Given the description of an element on the screen output the (x, y) to click on. 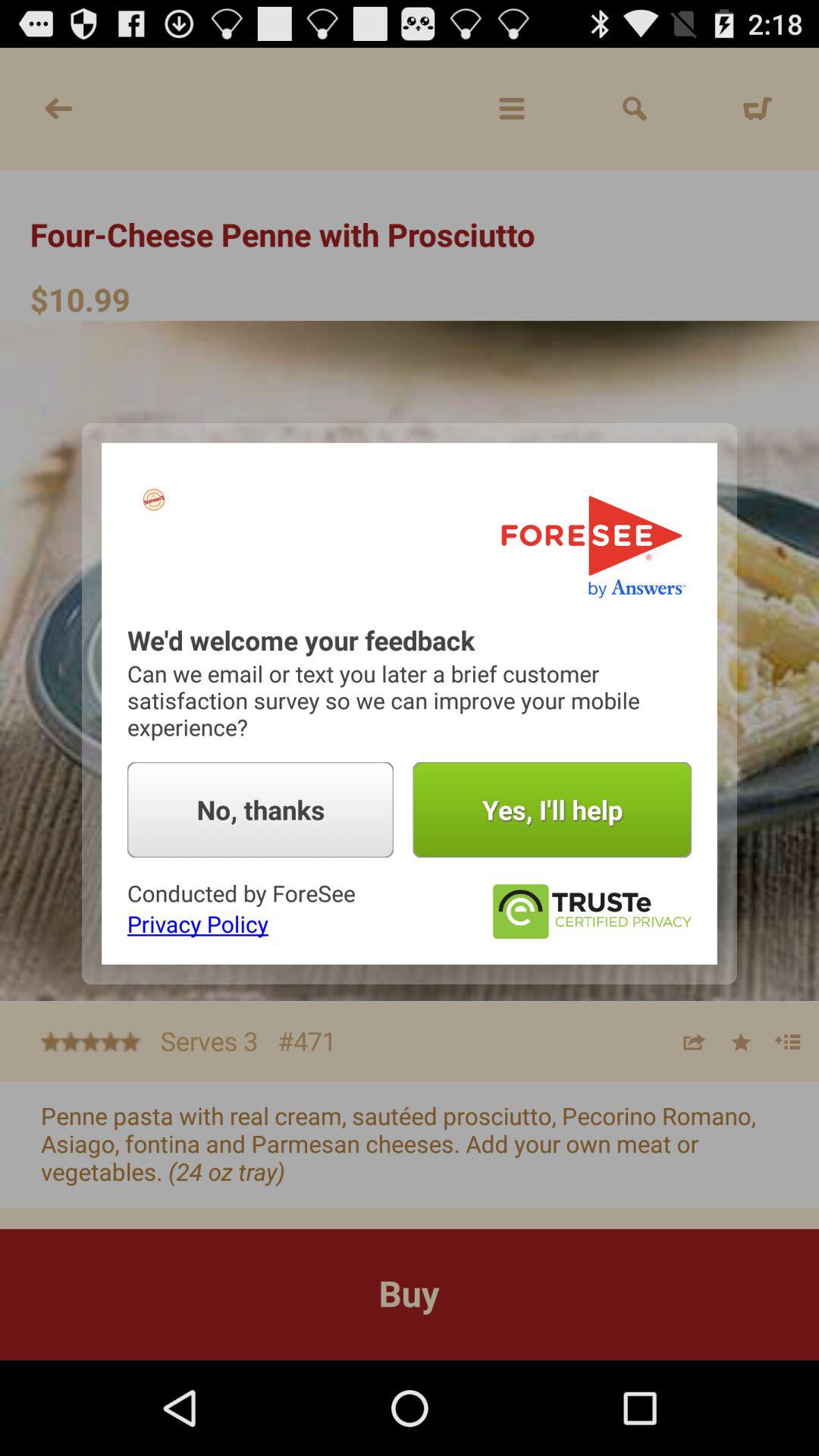
swipe to privacy policy icon (197, 923)
